Given the description of an element on the screen output the (x, y) to click on. 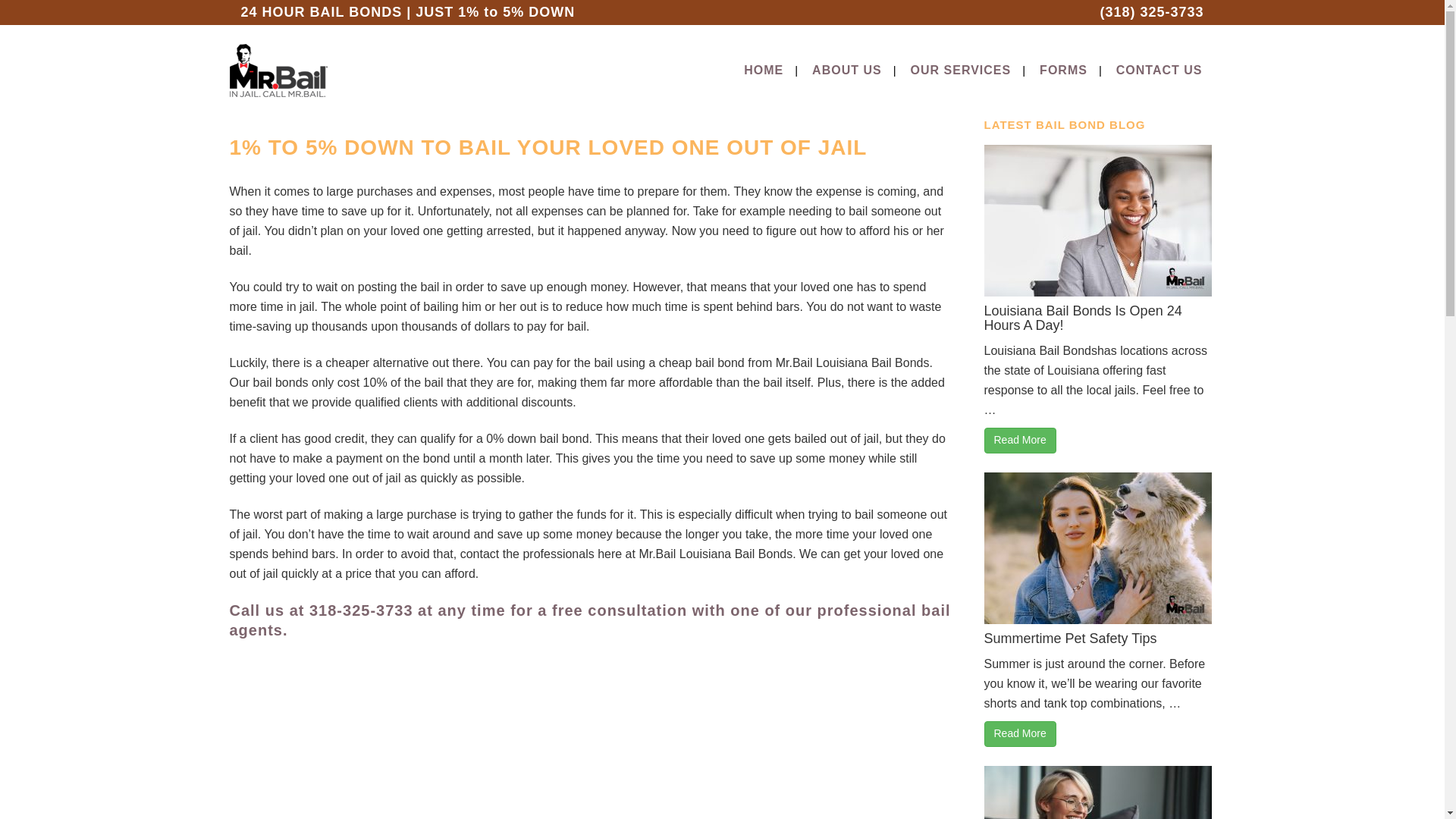
Summertime Pet Safety Tips (1070, 638)
Read More (1020, 440)
ABOUT US (847, 70)
CONTACT US (1159, 70)
318-325-3733 (360, 610)
Louisiana Bail Bonds Is Open 24 Hours A Day! (1083, 318)
Read More (1020, 733)
OUR SERVICES (961, 70)
